Given the description of an element on the screen output the (x, y) to click on. 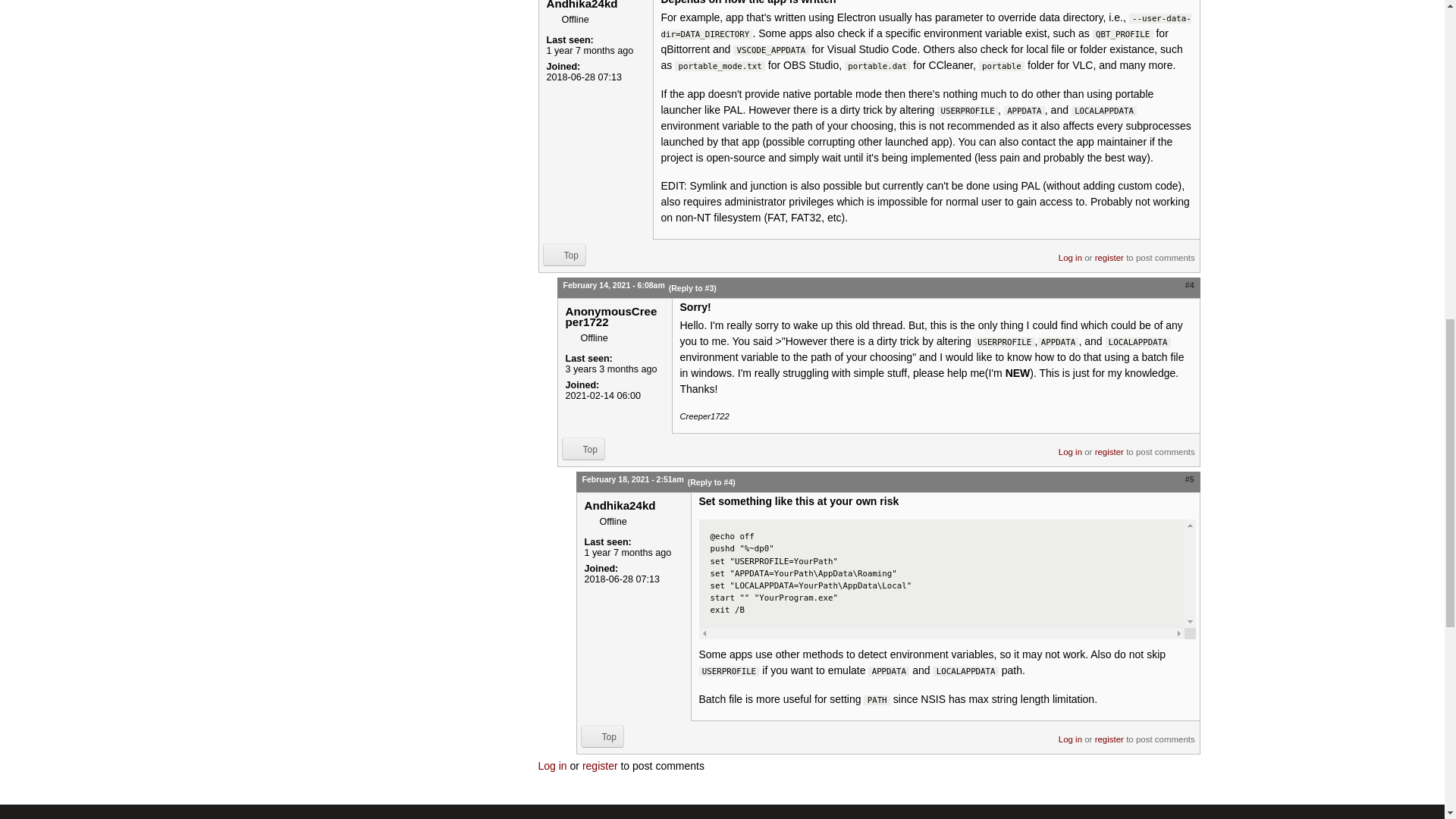
Top (564, 254)
Jump to top of page (582, 448)
Jump to top of page (564, 254)
